Given the description of an element on the screen output the (x, y) to click on. 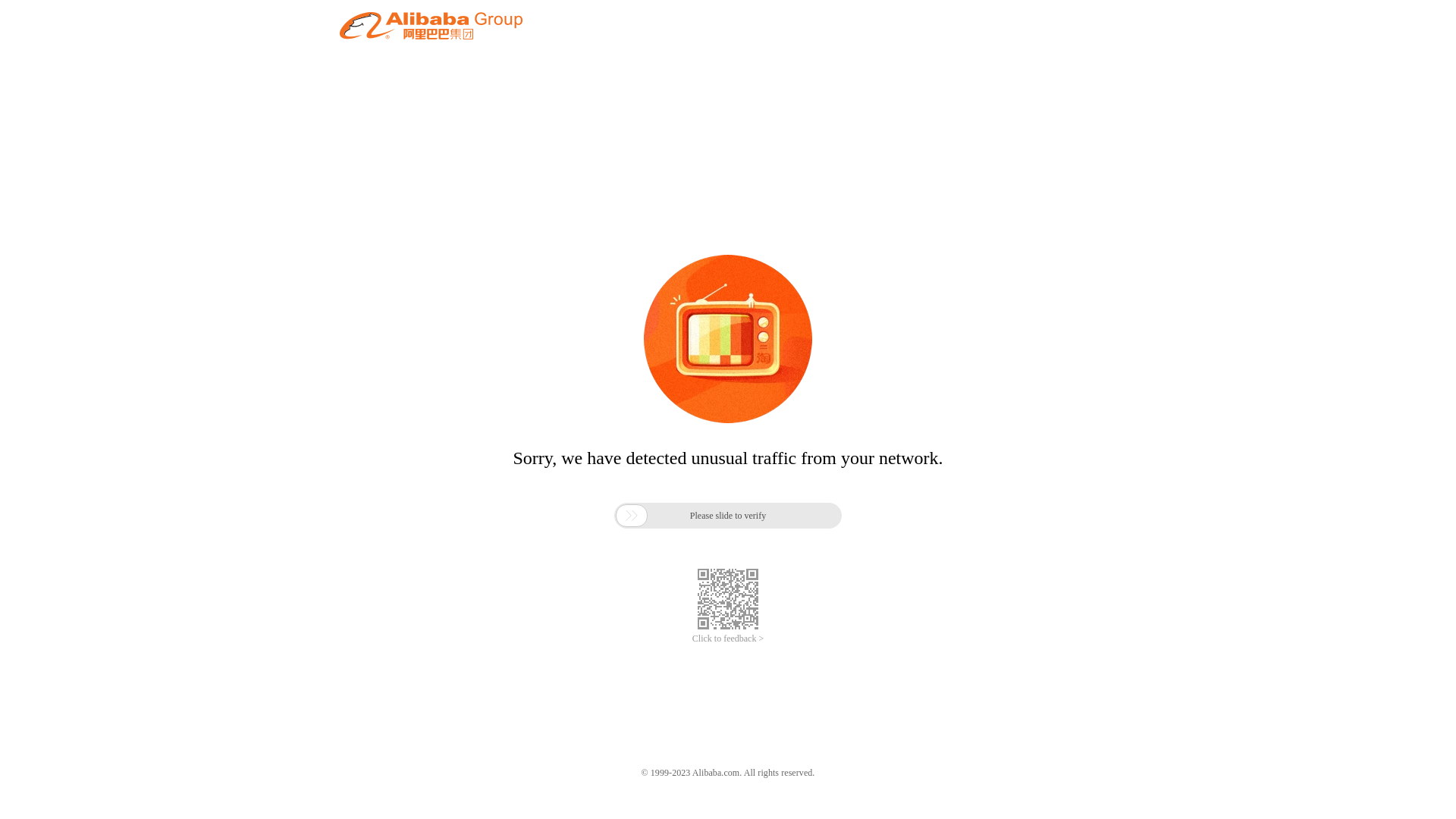
Click to feedback > Element type: text (727, 638)
